Given the description of an element on the screen output the (x, y) to click on. 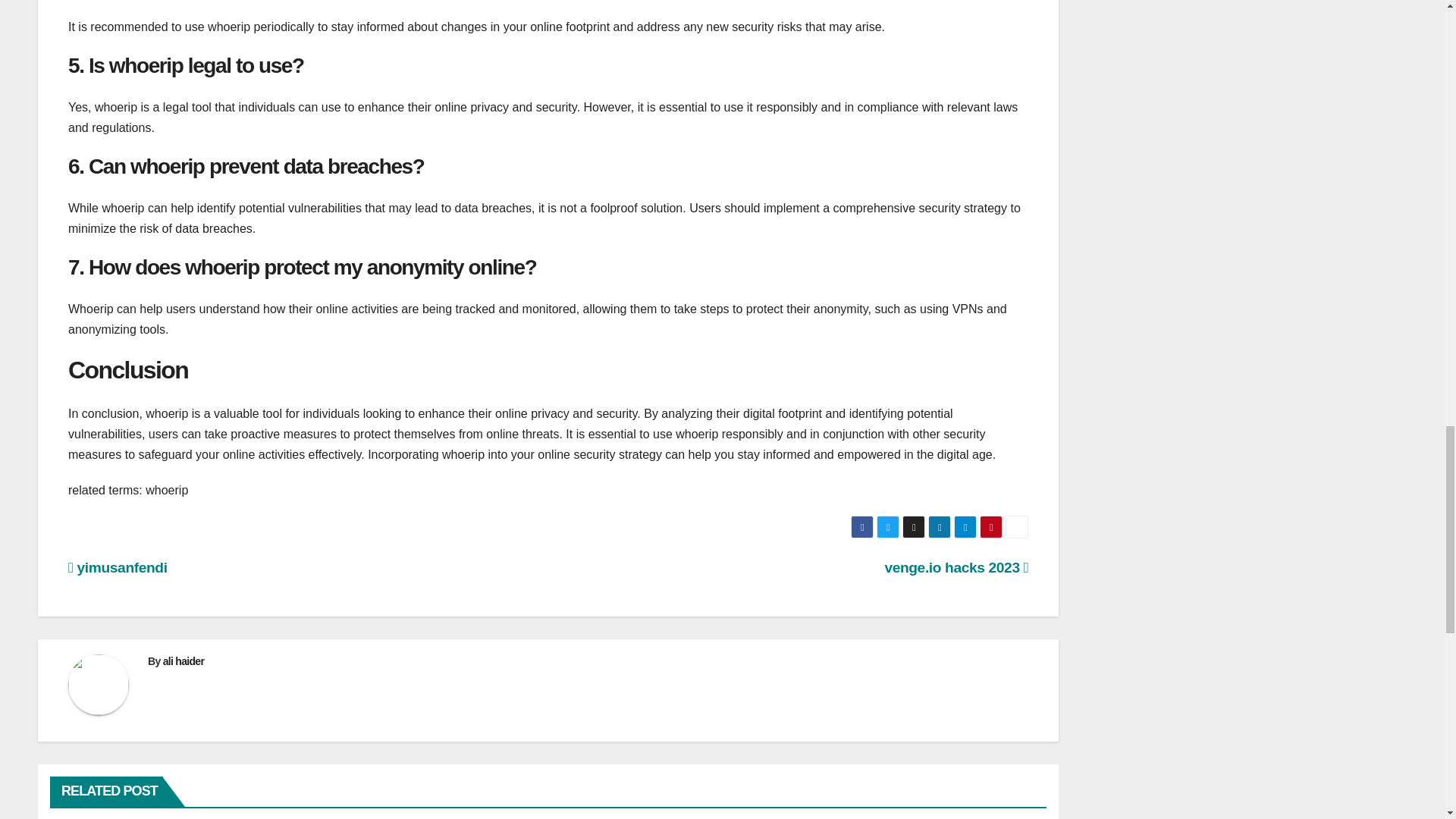
venge.io hacks 2023 (955, 567)
ali haider (183, 661)
yimusanfendi (117, 567)
